Given the description of an element on the screen output the (x, y) to click on. 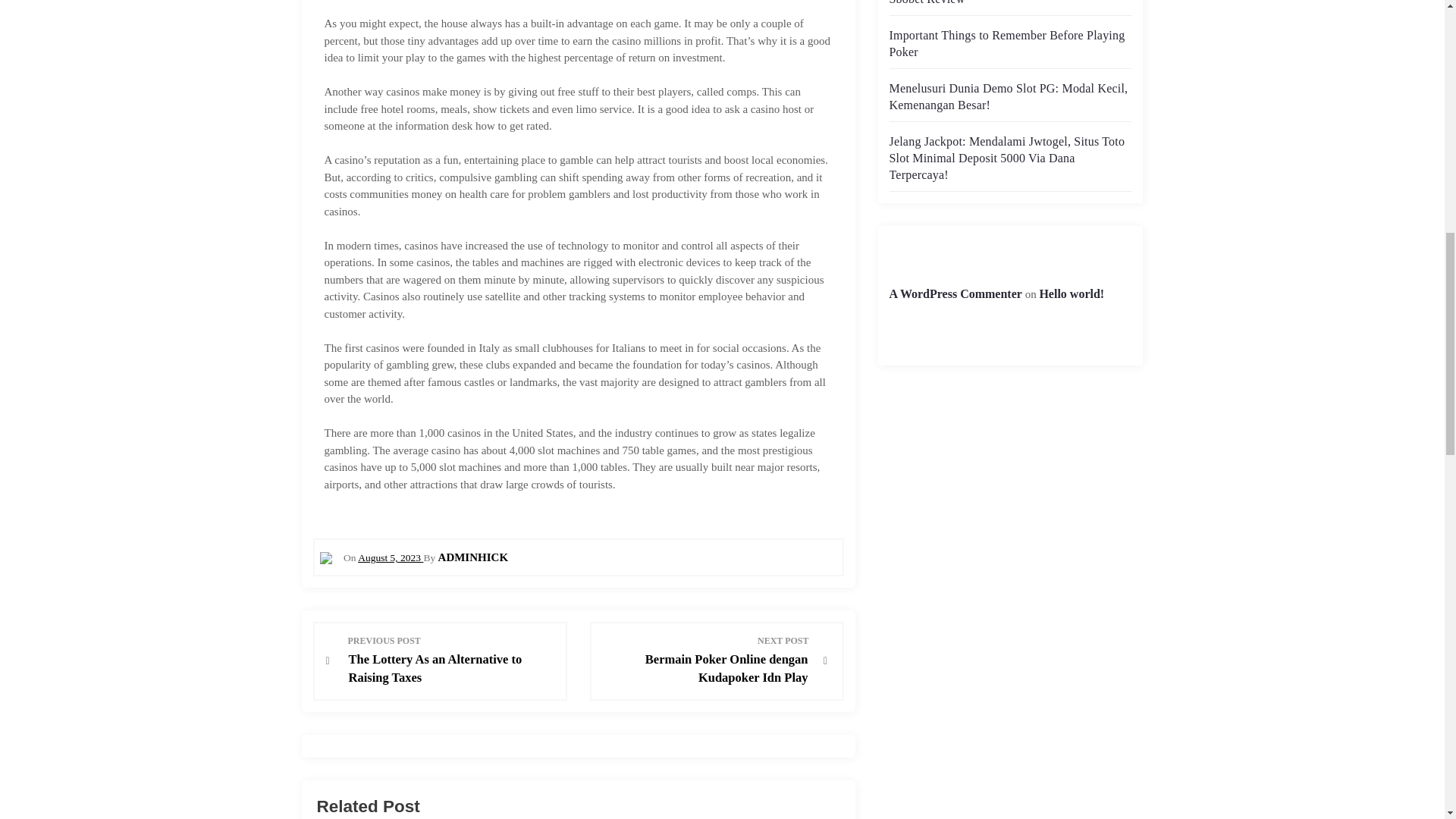
Hello world! (1071, 293)
Important Things to Remember Before Playing Poker (1006, 43)
ADMINHICK (473, 557)
August 5, 2023 (390, 557)
Sbobet Review (925, 2)
A WordPress Commenter (955, 293)
